Given the description of an element on the screen output the (x, y) to click on. 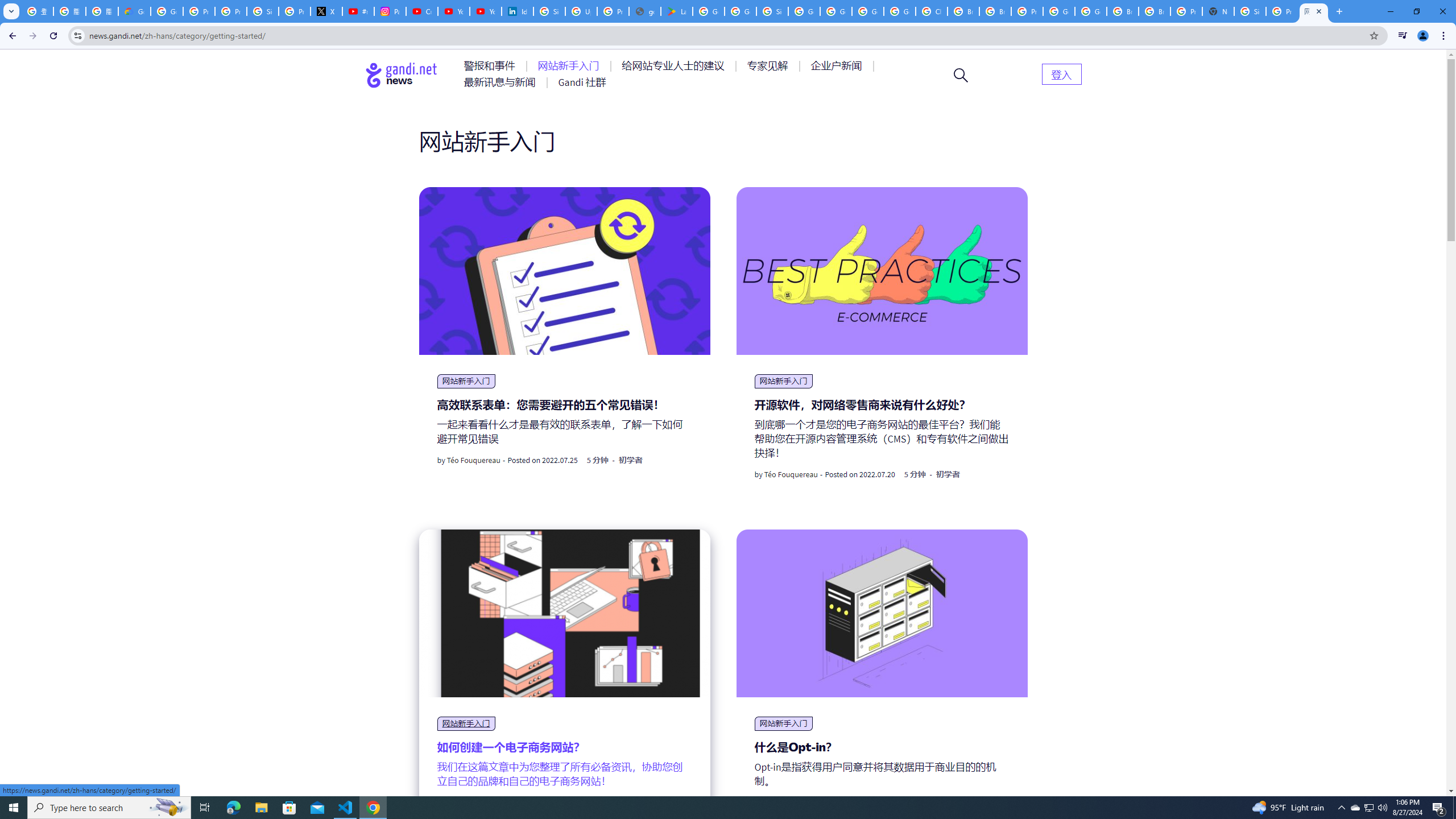
Google Cloud Platform (868, 11)
Google Cloud Platform (1091, 11)
Google Cloud Platform (1059, 11)
AutomationID: menu-item-82399 (1061, 73)
Privacy Help Center - Policies Help (230, 11)
AutomationID: menu-item-77763 (674, 65)
